Given the description of an element on the screen output the (x, y) to click on. 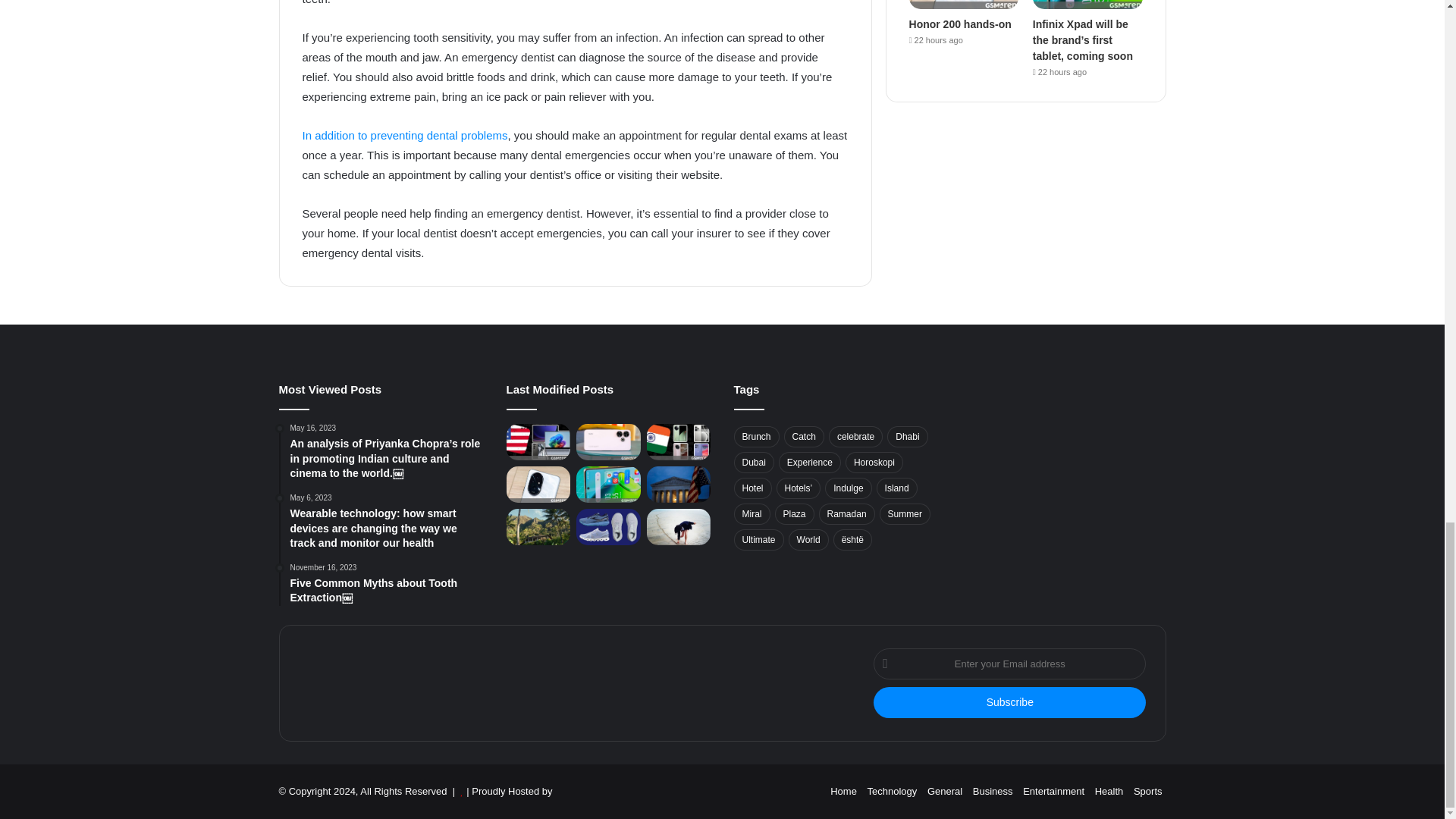
In addition to preventing dental problems (403, 134)
Subscribe (1009, 702)
